Given the description of an element on the screen output the (x, y) to click on. 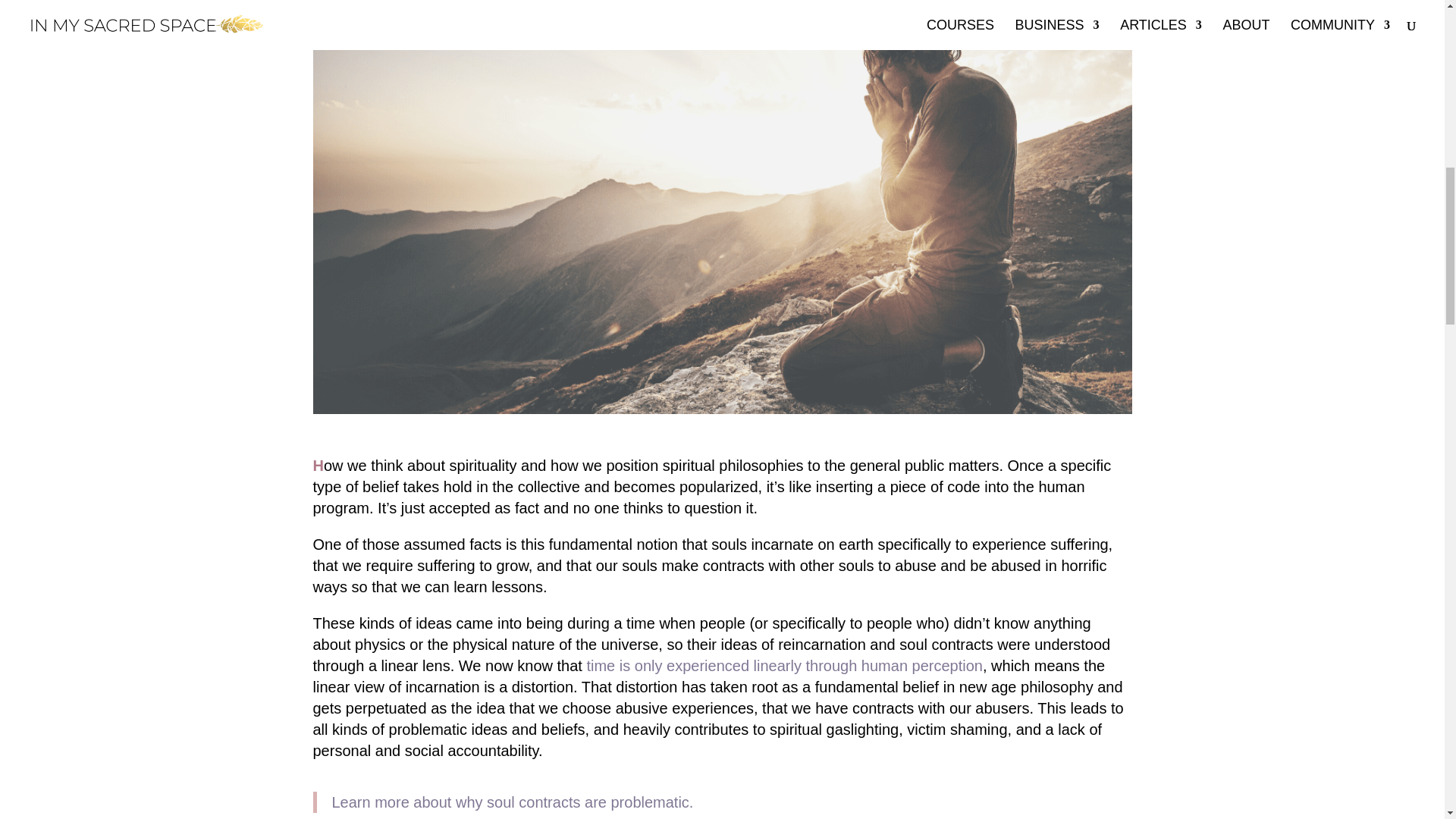
Learn more about why soul contracts are problematic. (512, 801)
time is only experienced linearly through human perception (784, 665)
